Given the description of an element on the screen output the (x, y) to click on. 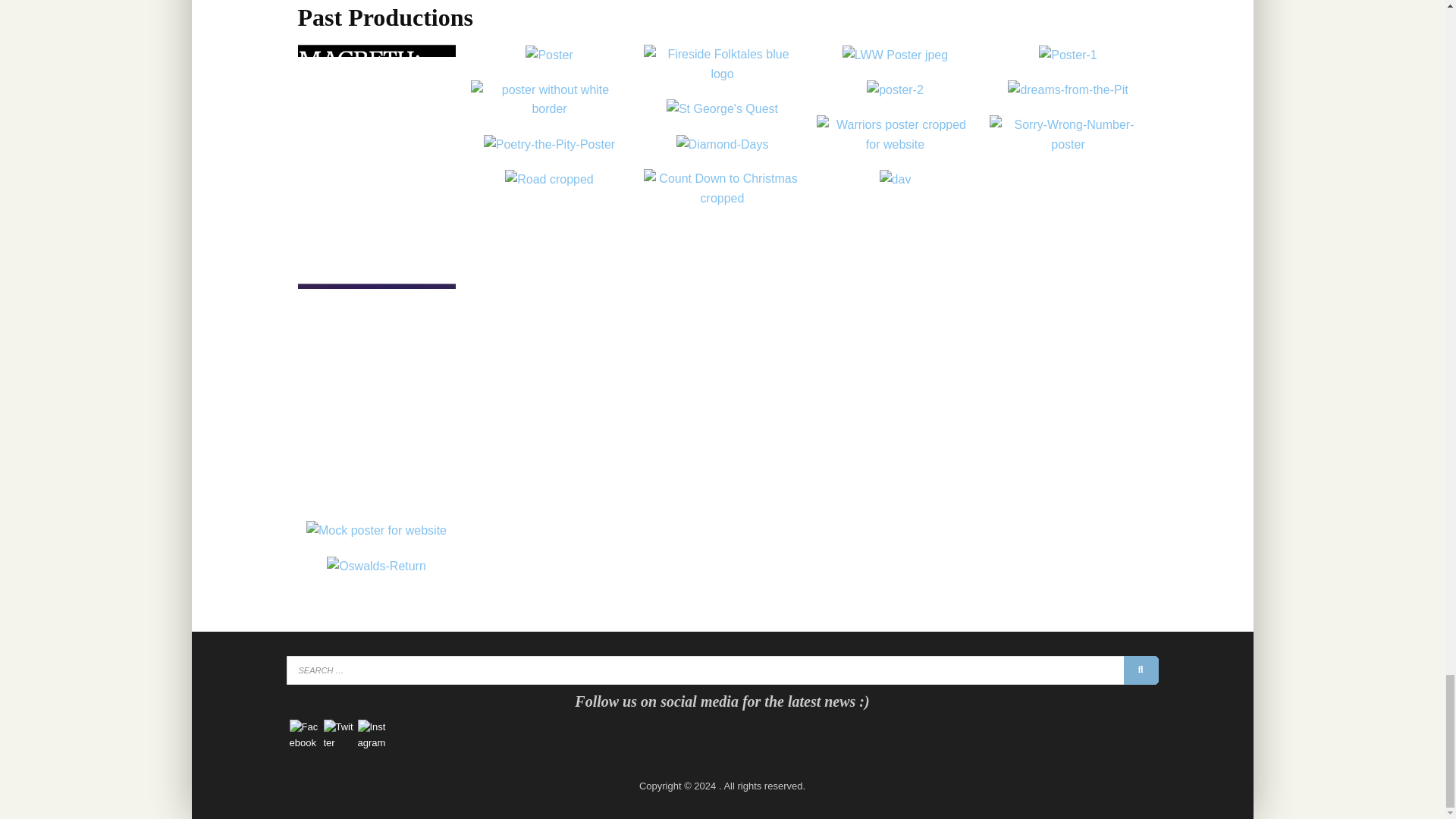
Poster-1 (1067, 55)
Mock poster for website (375, 530)
Road cropped (549, 179)
Fireside Folktales blue logo (721, 64)
Count Down to Christmas cropped (721, 188)
Oswalds-Return (376, 566)
poster without white border (548, 99)
Poster (548, 55)
Poetry-the-Pity-Poster (548, 144)
poster-2 (894, 89)
